Given the description of an element on the screen output the (x, y) to click on. 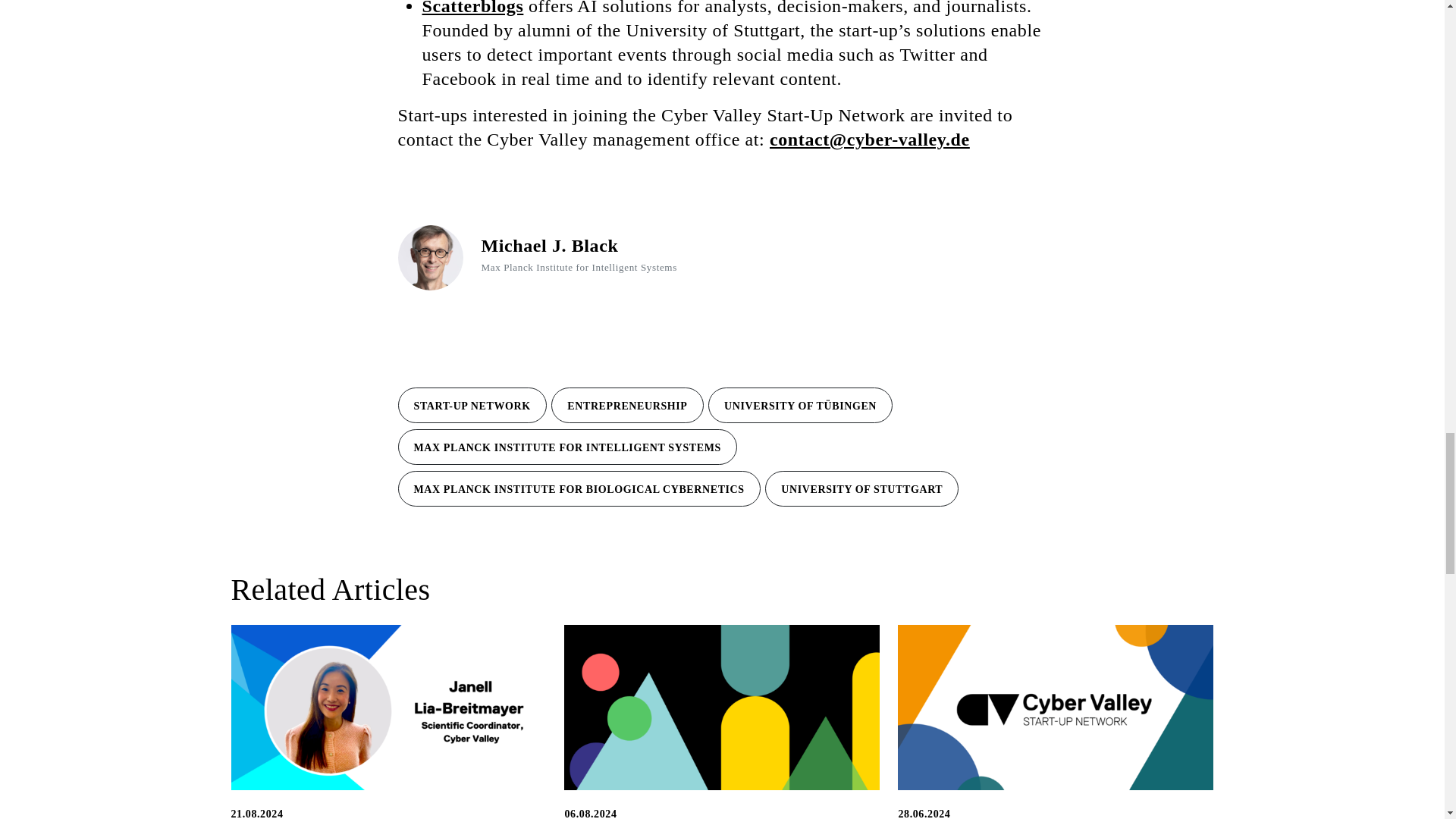
UNIVERSITY OF STUTTGART (861, 488)
Michael J. Black (548, 245)
START-UP NETWORK (471, 405)
Scatterblogs (472, 7)
MAX PLANCK INSTITUTE FOR BIOLOGICAL CYBERNETICS (578, 488)
MAX PLANCK INSTITUTE FOR INTELLIGENT SYSTEMS (566, 447)
ENTREPRENEURSHIP (627, 405)
